Given the description of an element on the screen output the (x, y) to click on. 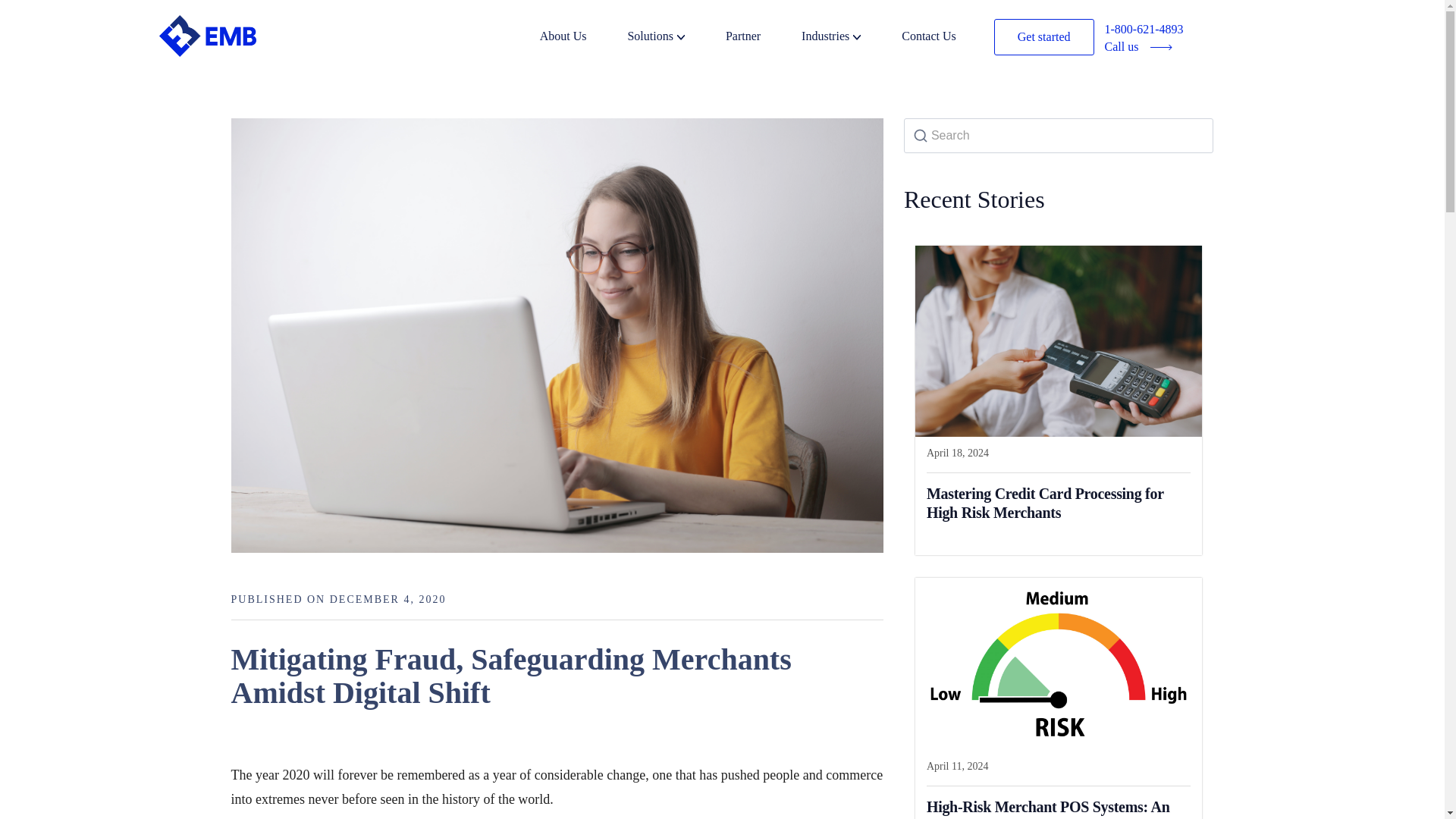
Industries (850, 37)
Partner (761, 37)
About Us (582, 37)
Solutions (674, 37)
